Given the description of an element on the screen output the (x, y) to click on. 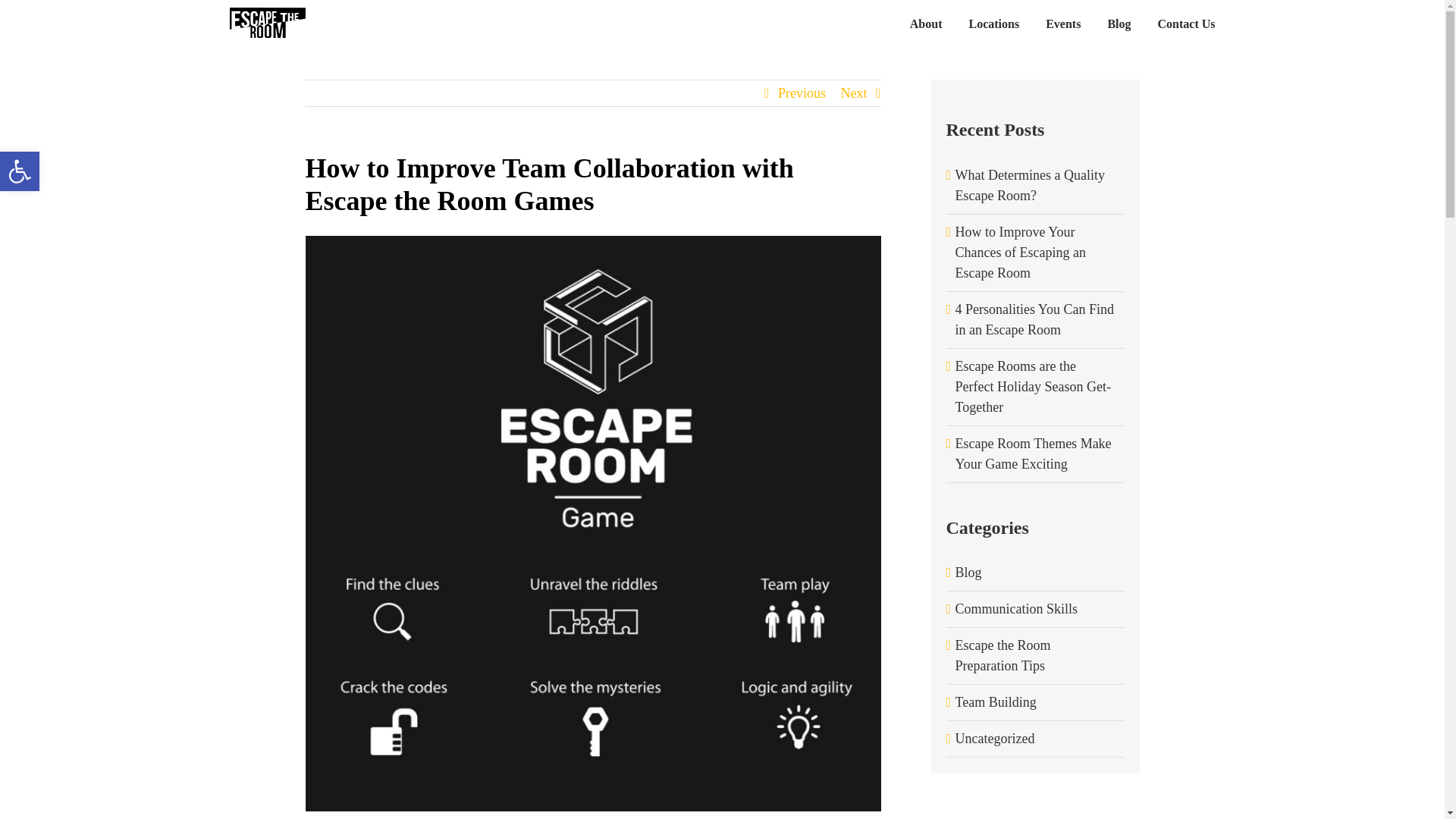
Locations (993, 22)
Previous (801, 93)
Next (853, 93)
Accessibility Tools (19, 170)
Accessibility Tools (19, 170)
Contact Us (1185, 22)
